Given the description of an element on the screen output the (x, y) to click on. 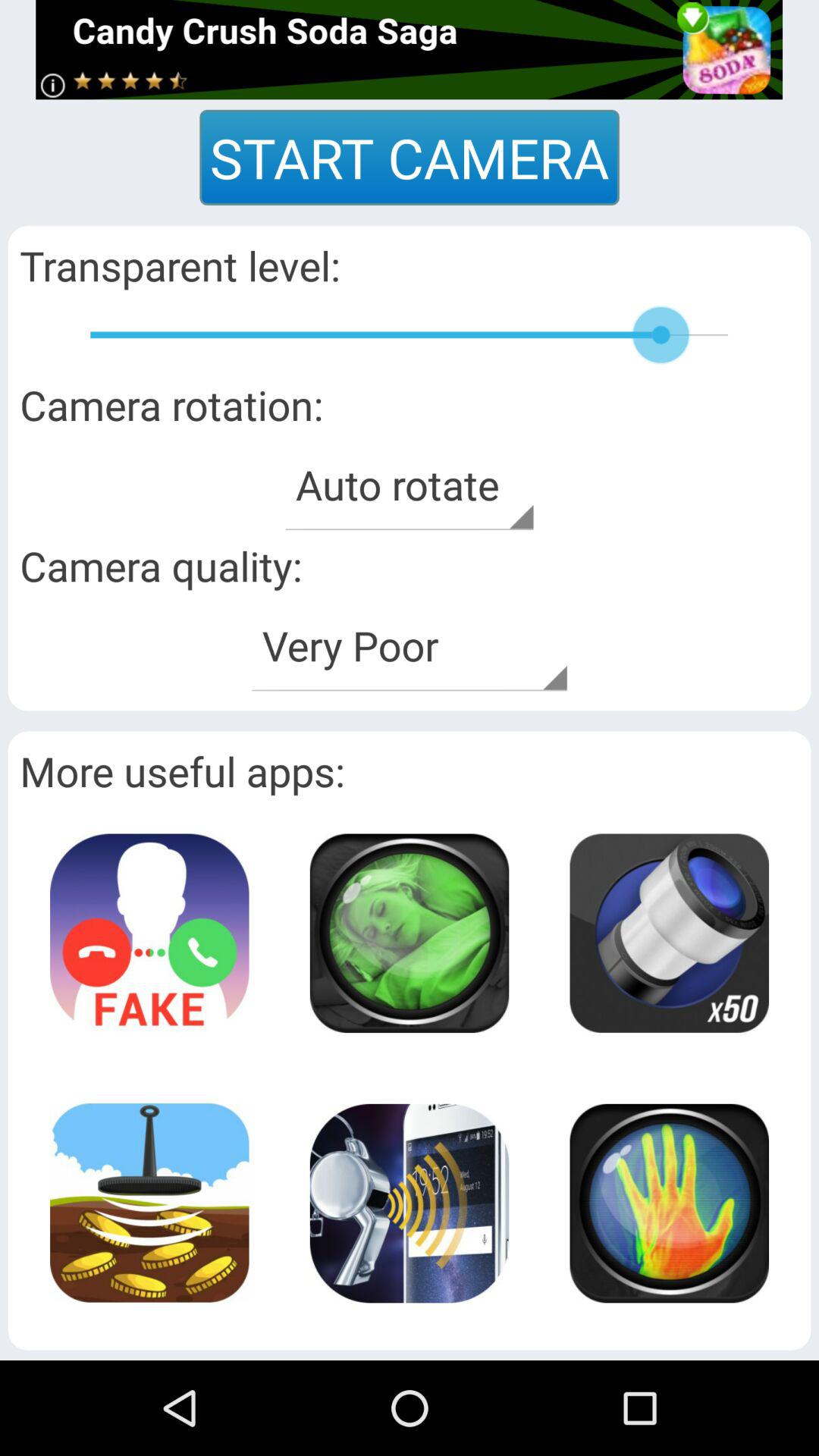
icon page (149, 1202)
